Given the description of an element on the screen output the (x, y) to click on. 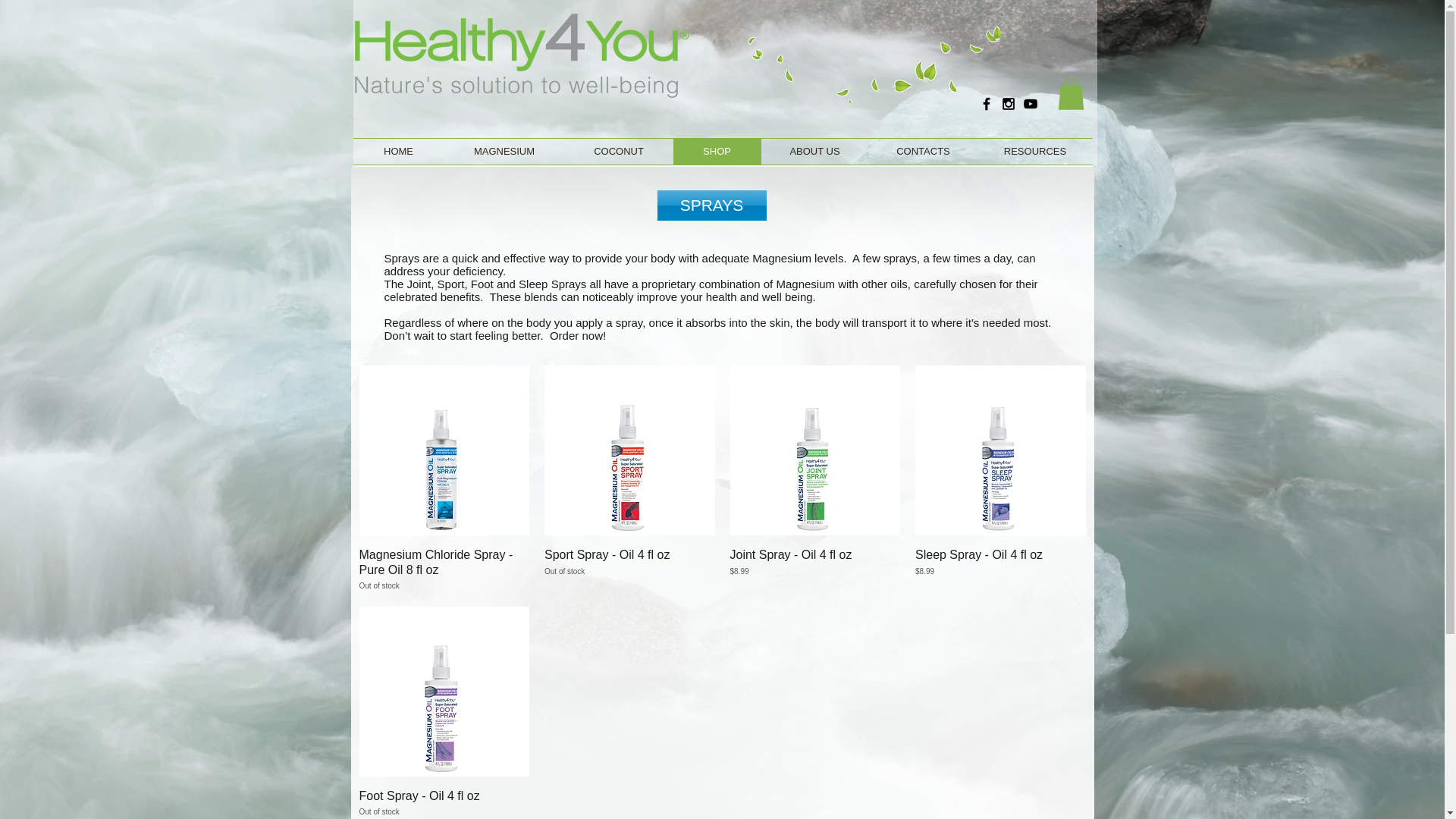
CONTACTS (923, 151)
HOME (444, 802)
COCONUT (629, 568)
SHOP (398, 151)
ABOUT US (618, 151)
RESOURCES (716, 151)
MAGNESIUM (815, 151)
